Given the description of an element on the screen output the (x, y) to click on. 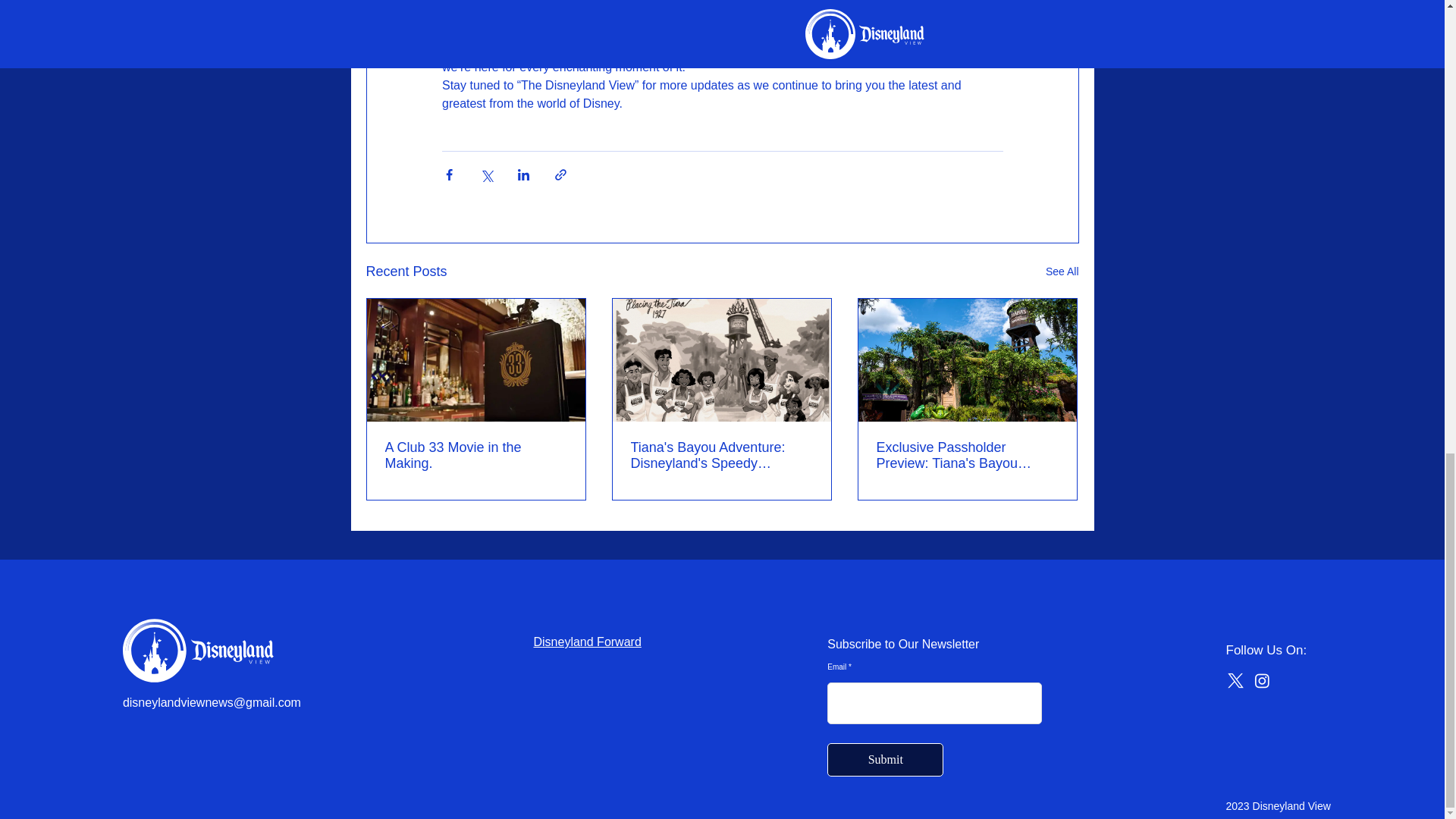
Submit (885, 759)
Disneyland Forward (588, 641)
A Club 33 Movie in the Making. (476, 455)
See All (1061, 271)
